Given the description of an element on the screen output the (x, y) to click on. 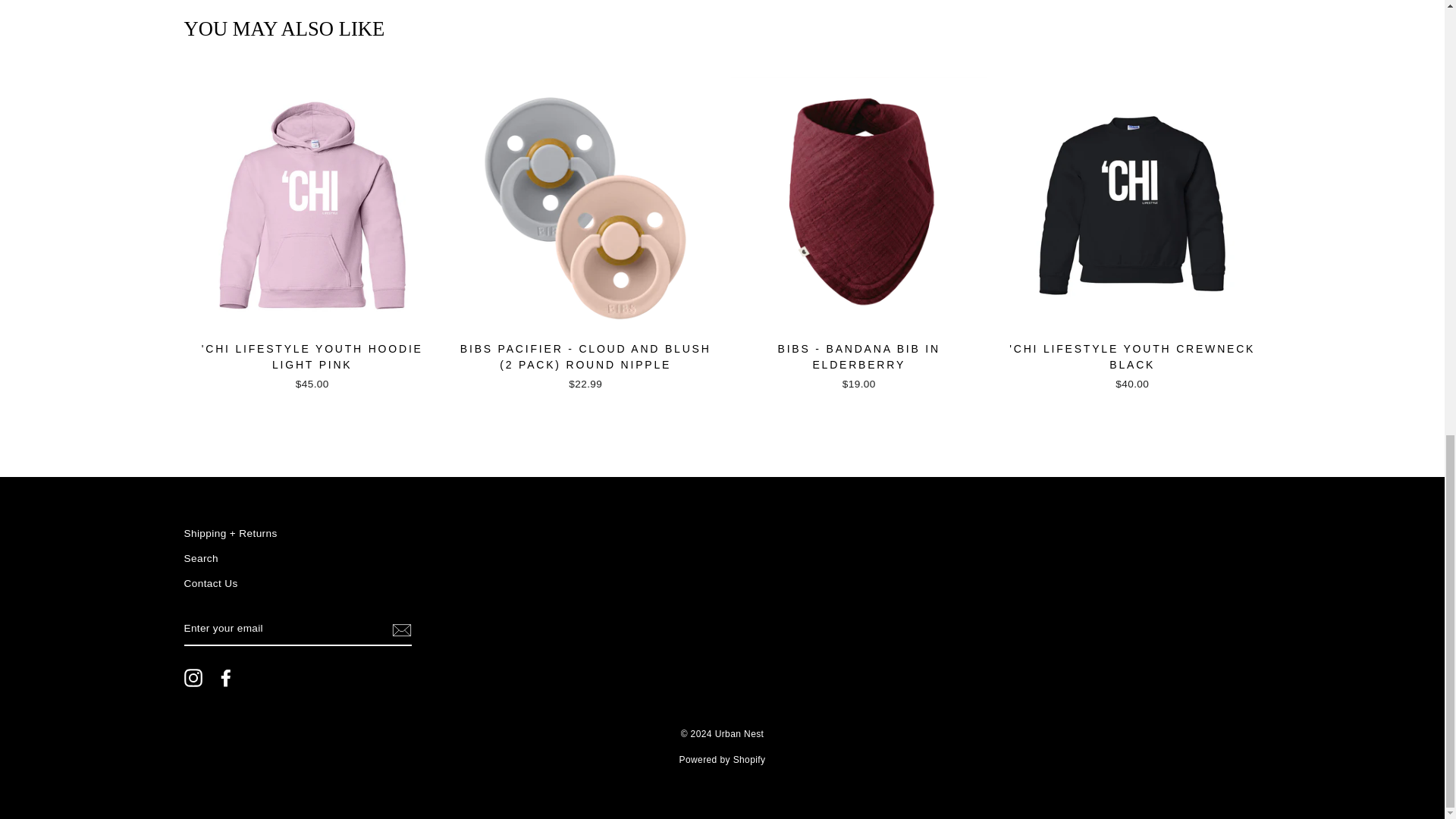
Urban Nest on Facebook (225, 678)
Urban Nest on Instagram (192, 678)
